Given the description of an element on the screen output the (x, y) to click on. 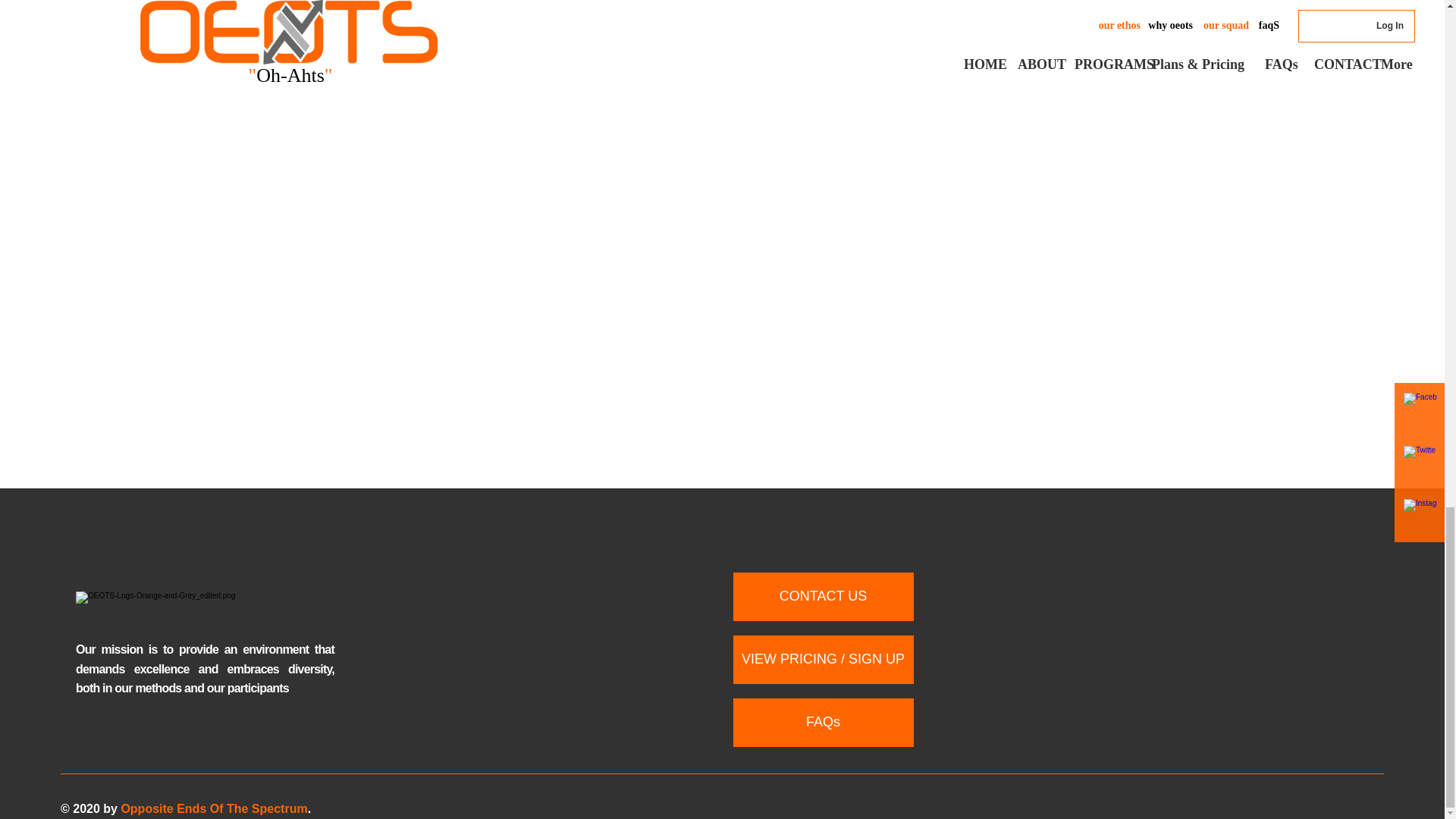
FAQs (822, 722)
CONTACT US (822, 596)
